Given the description of an element on the screen output the (x, y) to click on. 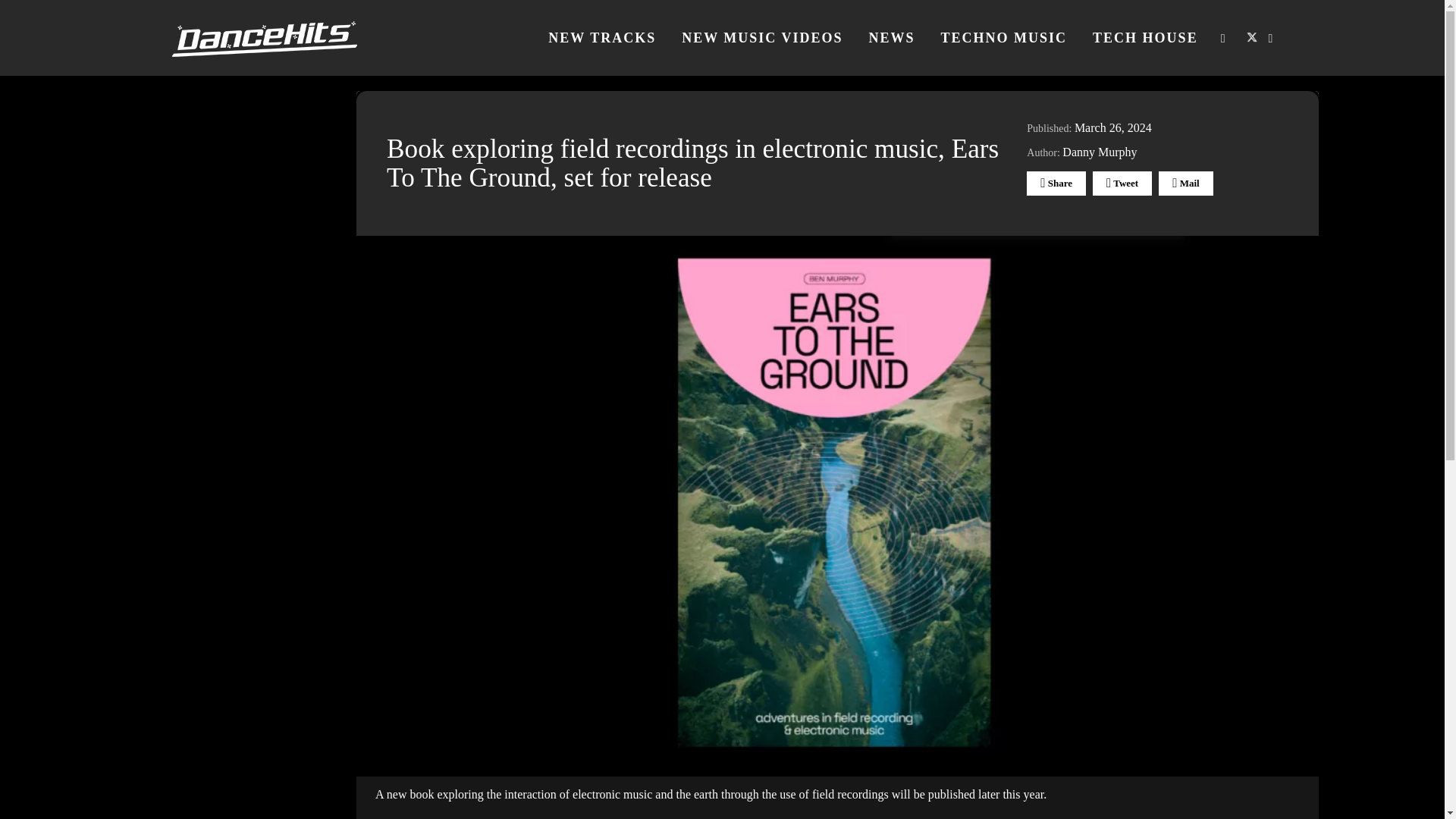
NEW TRACKS (601, 37)
Mail (1185, 183)
Danny Murphy (1099, 151)
Share via Email (1185, 183)
Danny Murphy (1099, 151)
Share via Twitter (1122, 183)
Dance Hits (263, 37)
TECHNO MUSIC (1004, 37)
Tweet (1122, 183)
NEW MUSIC VIDEOS (761, 37)
